Given the description of an element on the screen output the (x, y) to click on. 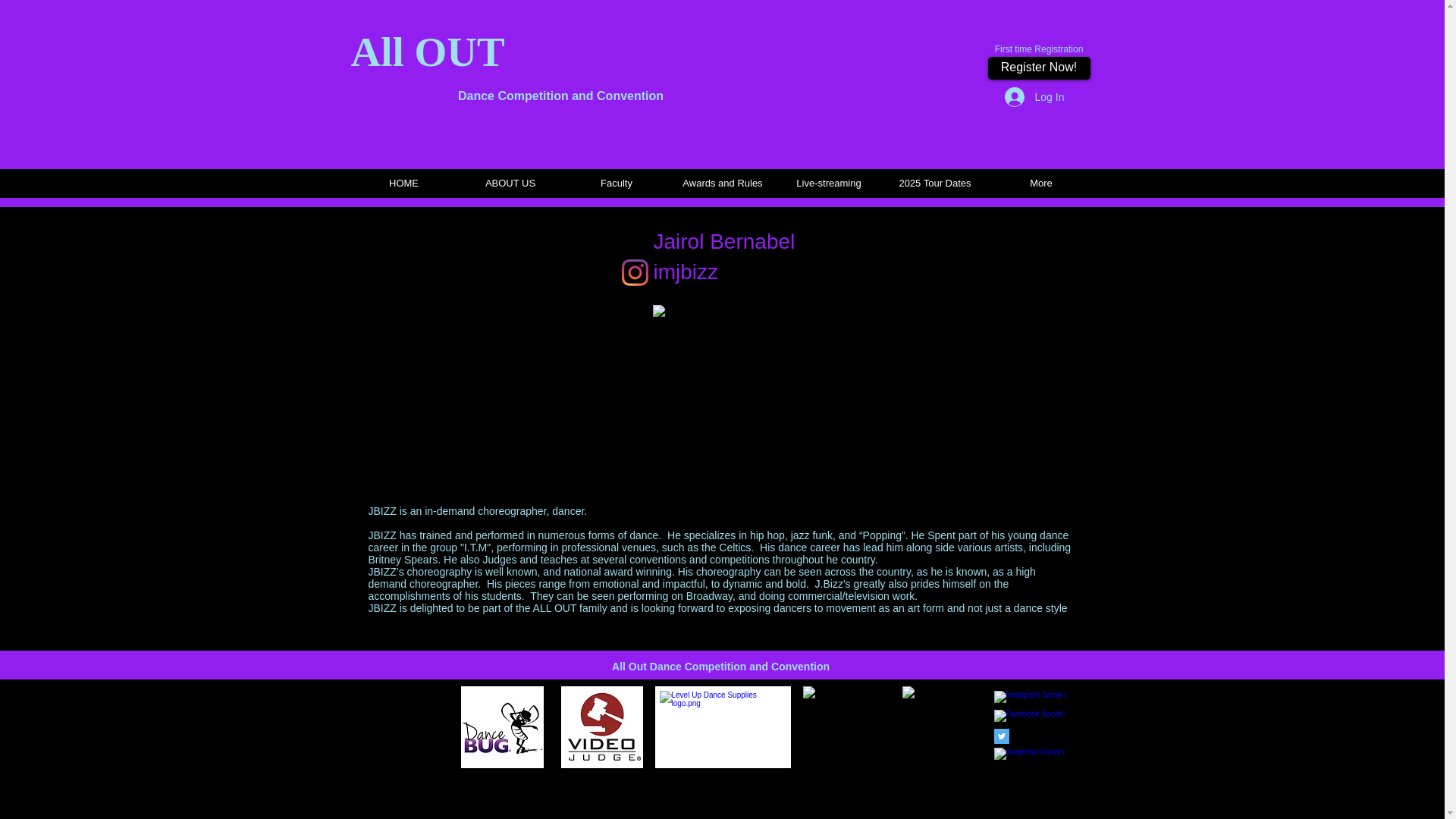
Log In (1023, 96)
Live-streaming (827, 183)
Faculty (615, 183)
HOME (403, 183)
ABOUT US (509, 183)
Awards and Rules (721, 183)
Register Now! (1038, 67)
2025 Tour Dates (933, 183)
